Given the description of an element on the screen output the (x, y) to click on. 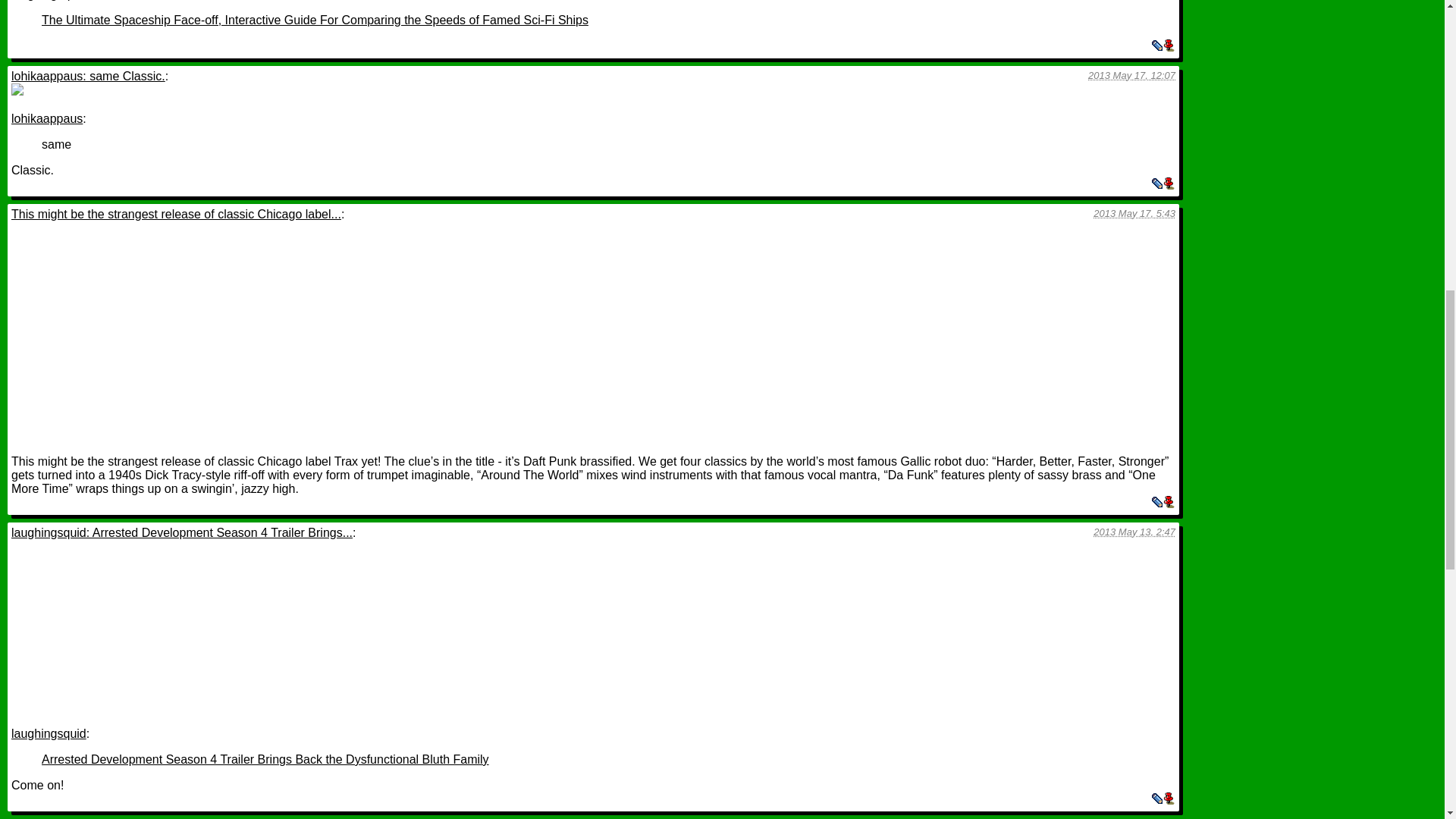
2013-05-13 21:47:01 PST (1133, 531)
2013-05-17 19:07:31 PST (1130, 75)
2013-05-17 12:43:36 PST (1133, 213)
